Given the description of an element on the screen output the (x, y) to click on. 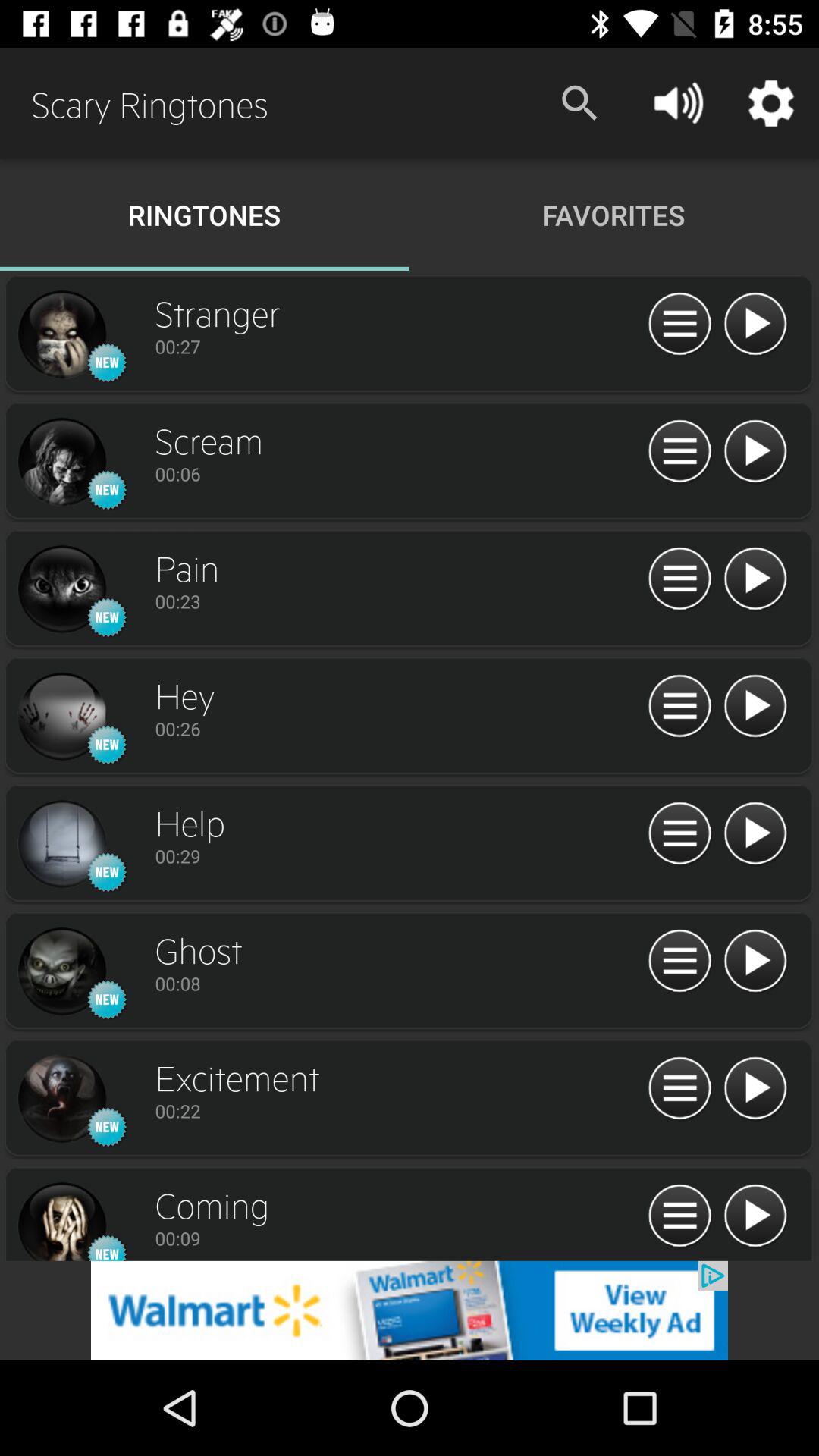
play button (755, 961)
